Given the description of an element on the screen output the (x, y) to click on. 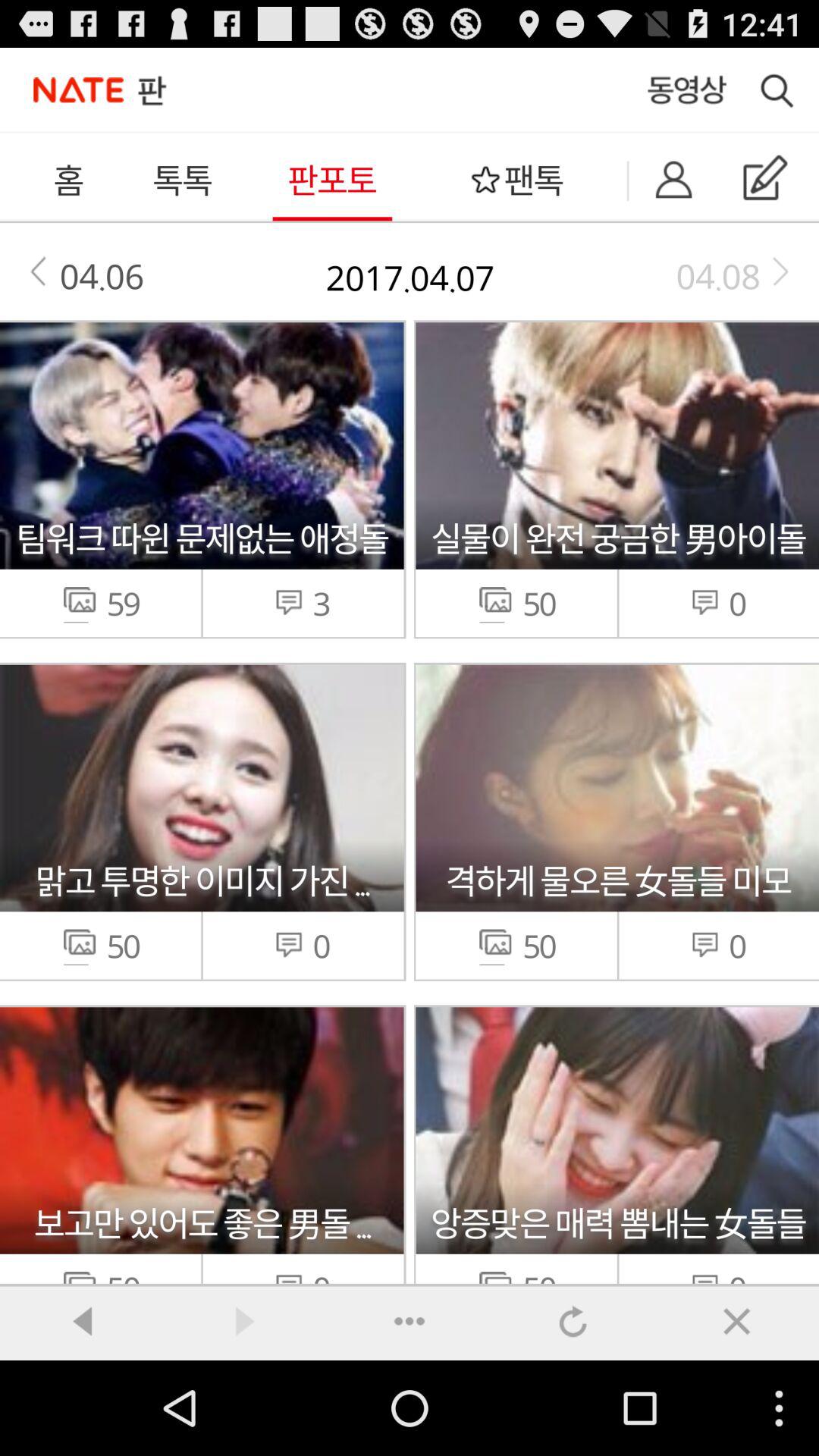
tap to refresh (573, 1320)
